Given the description of an element on the screen output the (x, y) to click on. 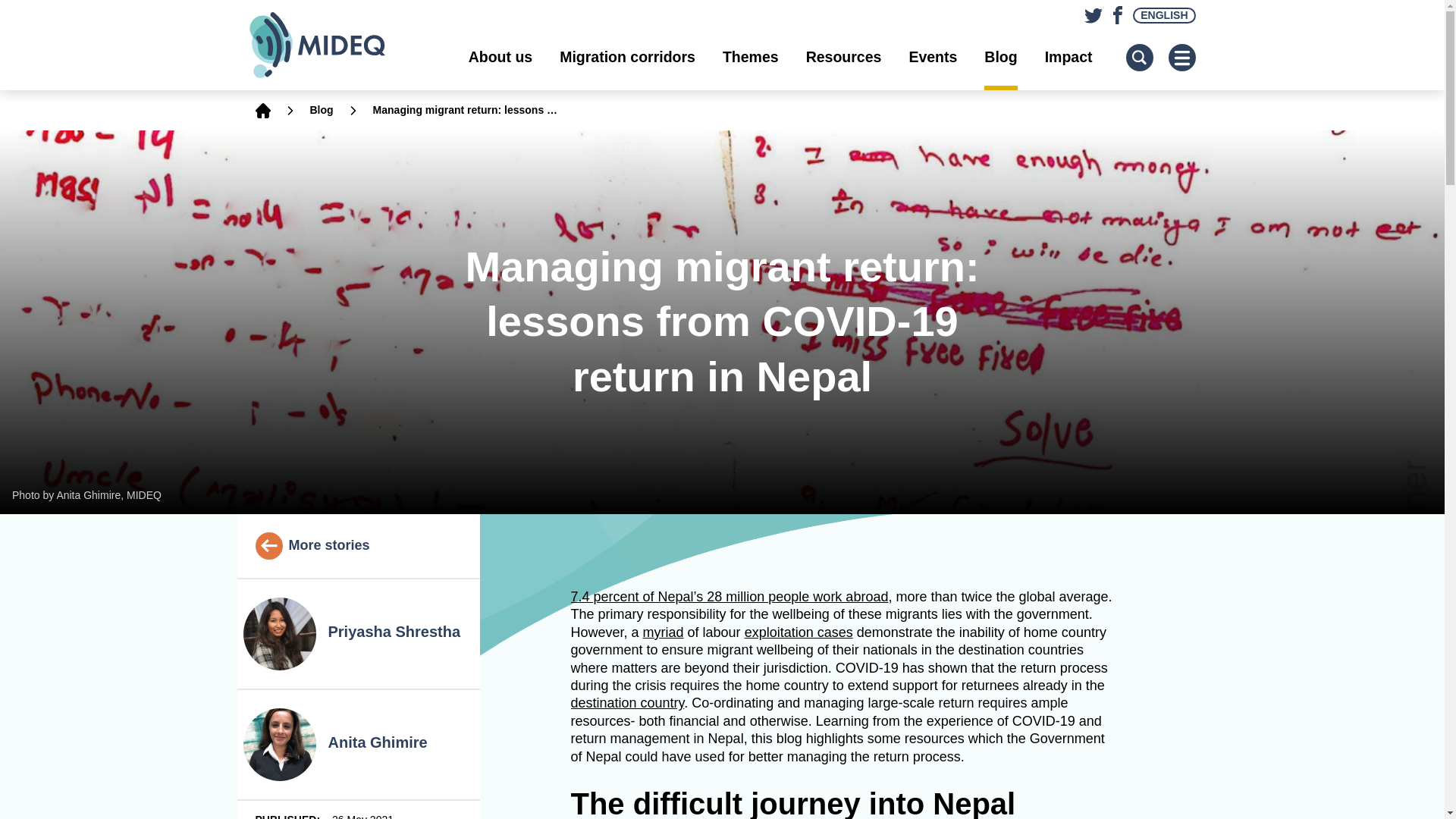
Resources (844, 57)
Migration corridors (627, 57)
Blog (1000, 57)
Events (932, 57)
Facebook (1114, 11)
MIDEQ - Migration for Diversity and Equality (331, 44)
Impact (1069, 57)
